Given the description of an element on the screen output the (x, y) to click on. 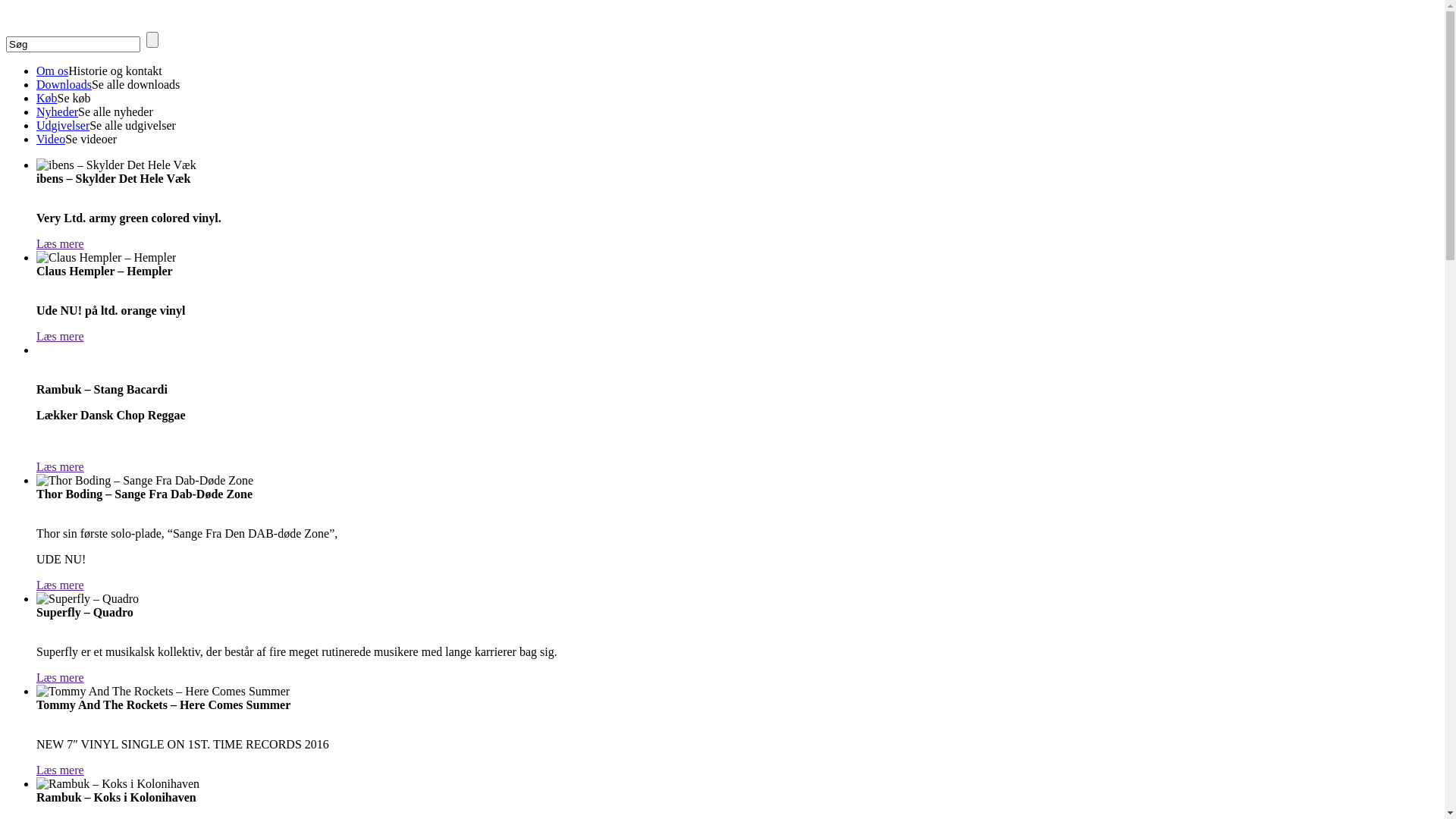
Udgivelser Element type: text (62, 125)
Downloads Element type: text (63, 84)
Om os Element type: text (52, 70)
Nyheder Element type: text (57, 111)
Video Element type: text (50, 138)
